Given the description of an element on the screen output the (x, y) to click on. 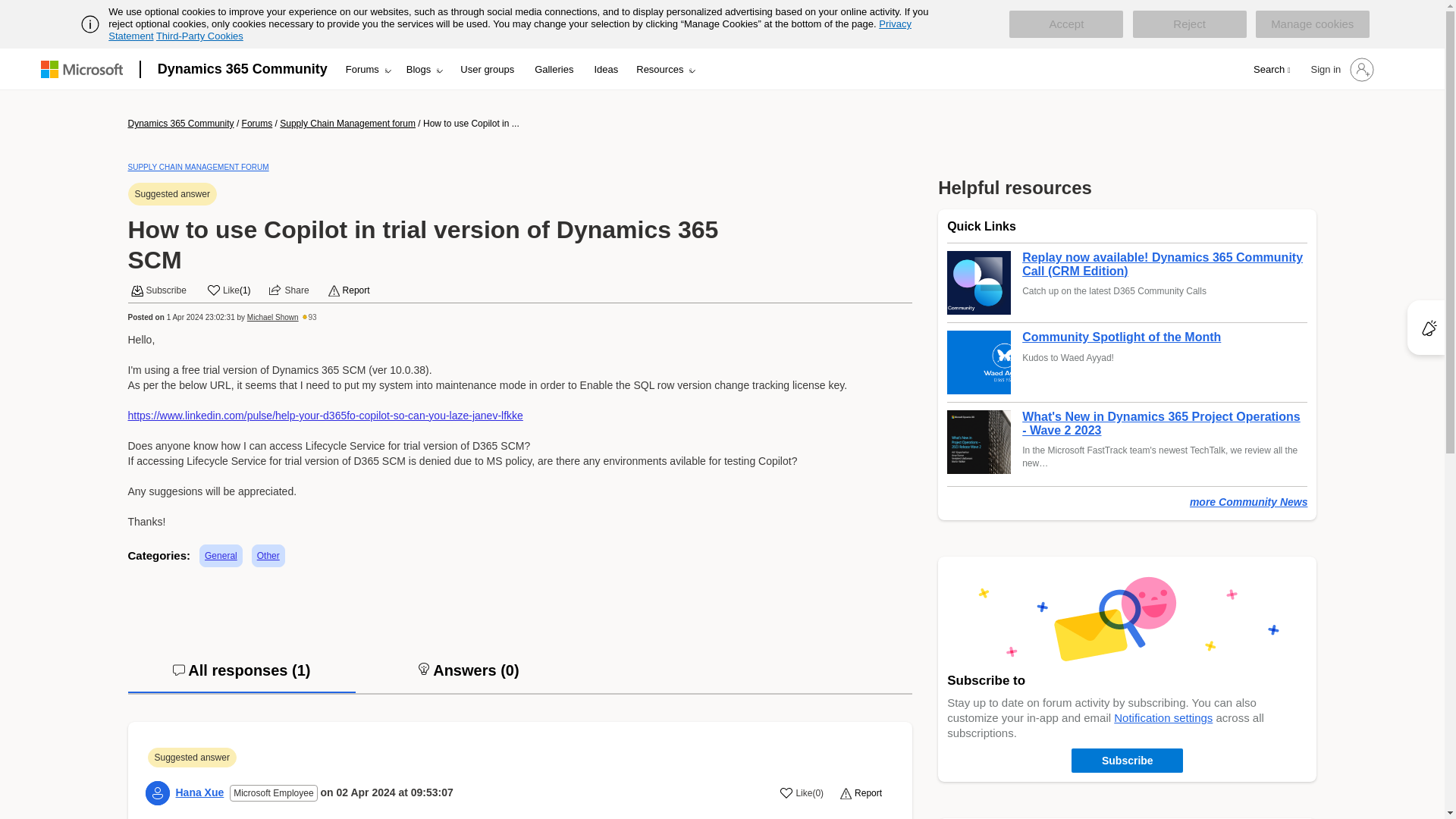
Search (1271, 69)
Forums (366, 69)
Privacy Statement (509, 29)
Michael Shown (272, 316)
Reject (1189, 23)
Manage cookies (1312, 23)
Dynamics 365 Community (242, 68)
Hana Xue (200, 792)
Accept (1065, 23)
Third-Party Cookies (199, 35)
